Given the description of an element on the screen output the (x, y) to click on. 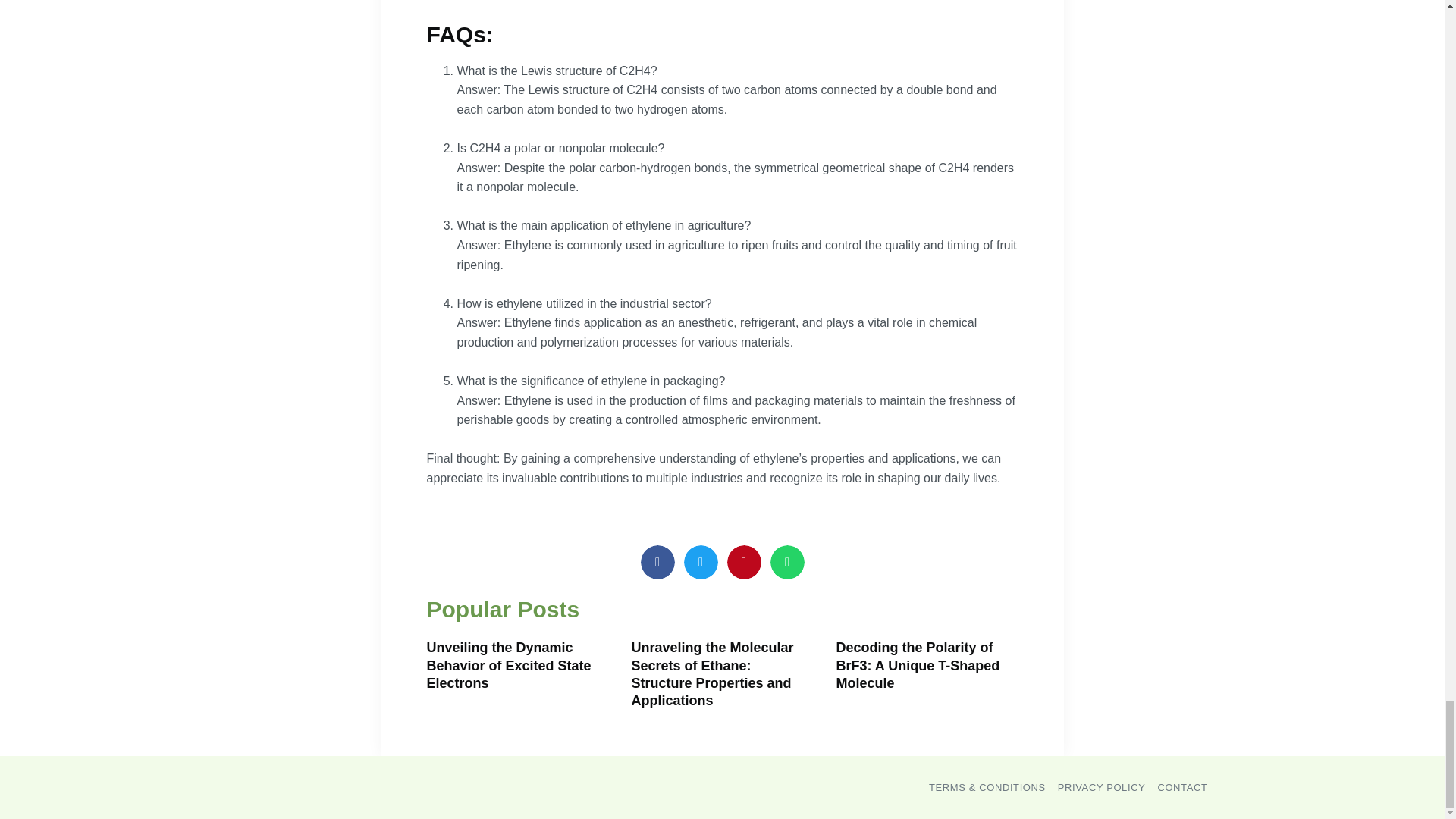
PRIVACY POLICY (1101, 787)
Decoding the Polarity of BrF3: A Unique T-Shaped Molecule (916, 665)
Unveiling the Dynamic Behavior of Excited State Electrons (508, 665)
CONTACT (1182, 787)
